Given the description of an element on the screen output the (x, y) to click on. 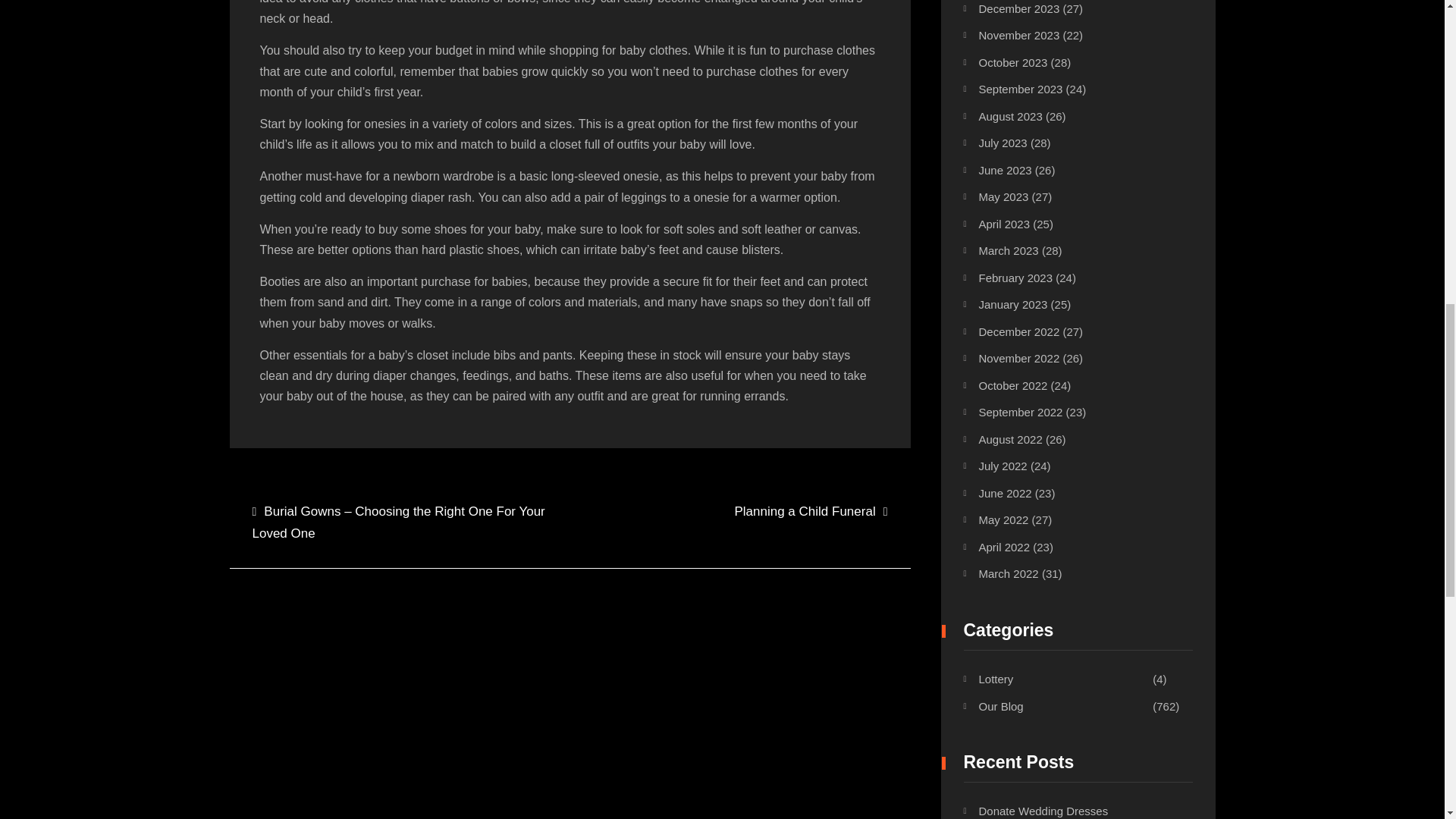
May 2023 (1002, 196)
December 2022 (1018, 331)
January 2023 (1012, 304)
October 2023 (1012, 62)
August 2023 (1010, 115)
December 2023 (1018, 8)
July 2023 (1002, 142)
February 2023 (1015, 277)
March 2023 (1008, 250)
Planning a Child Funeral (809, 512)
